Given the description of an element on the screen output the (x, y) to click on. 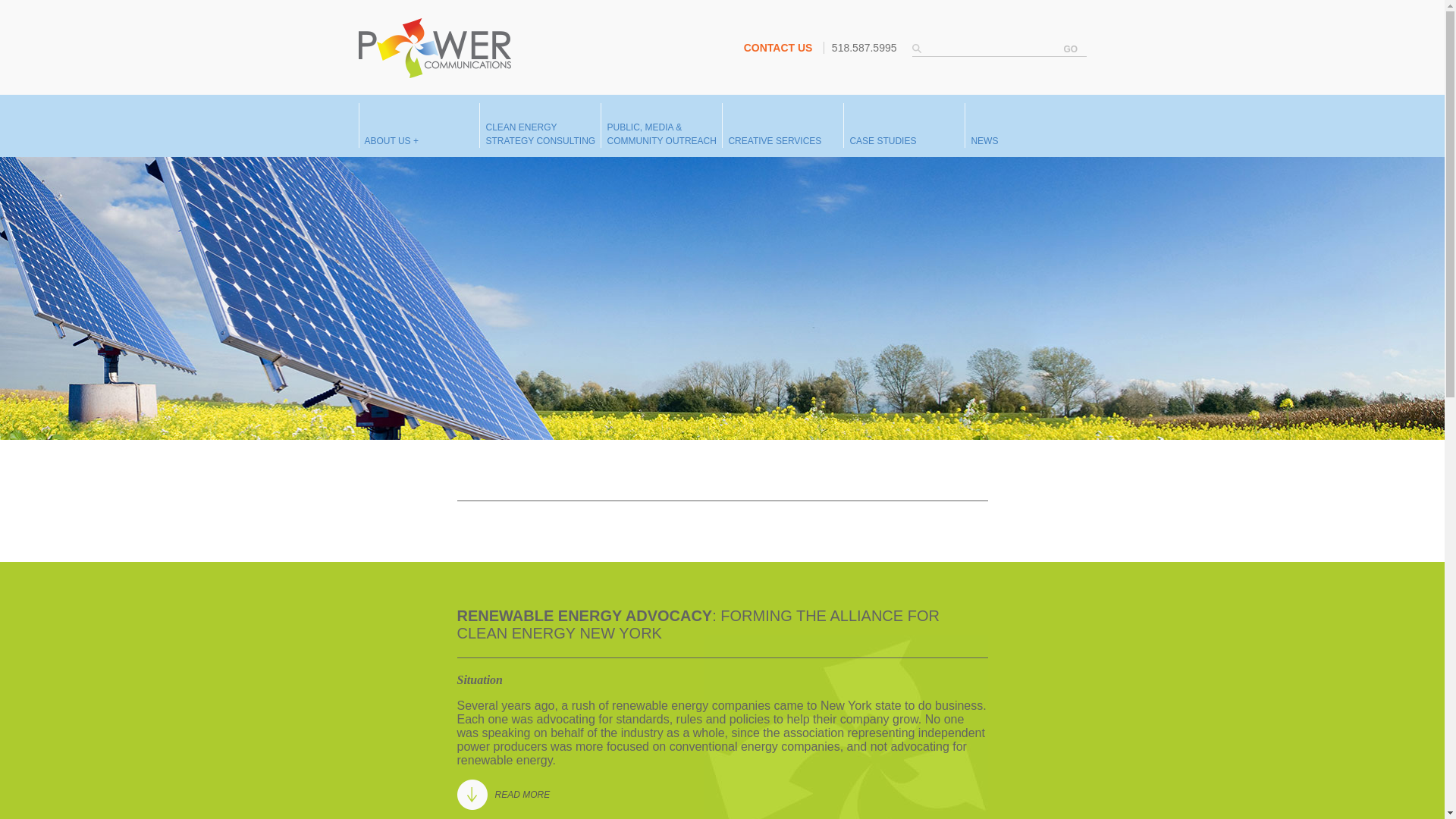
CASE STUDIES (881, 141)
go (1069, 49)
CONTACT US (778, 47)
NEWS (984, 141)
CREATIVE SERVICES (774, 141)
go (1069, 49)
go (539, 134)
